Given the description of an element on the screen output the (x, y) to click on. 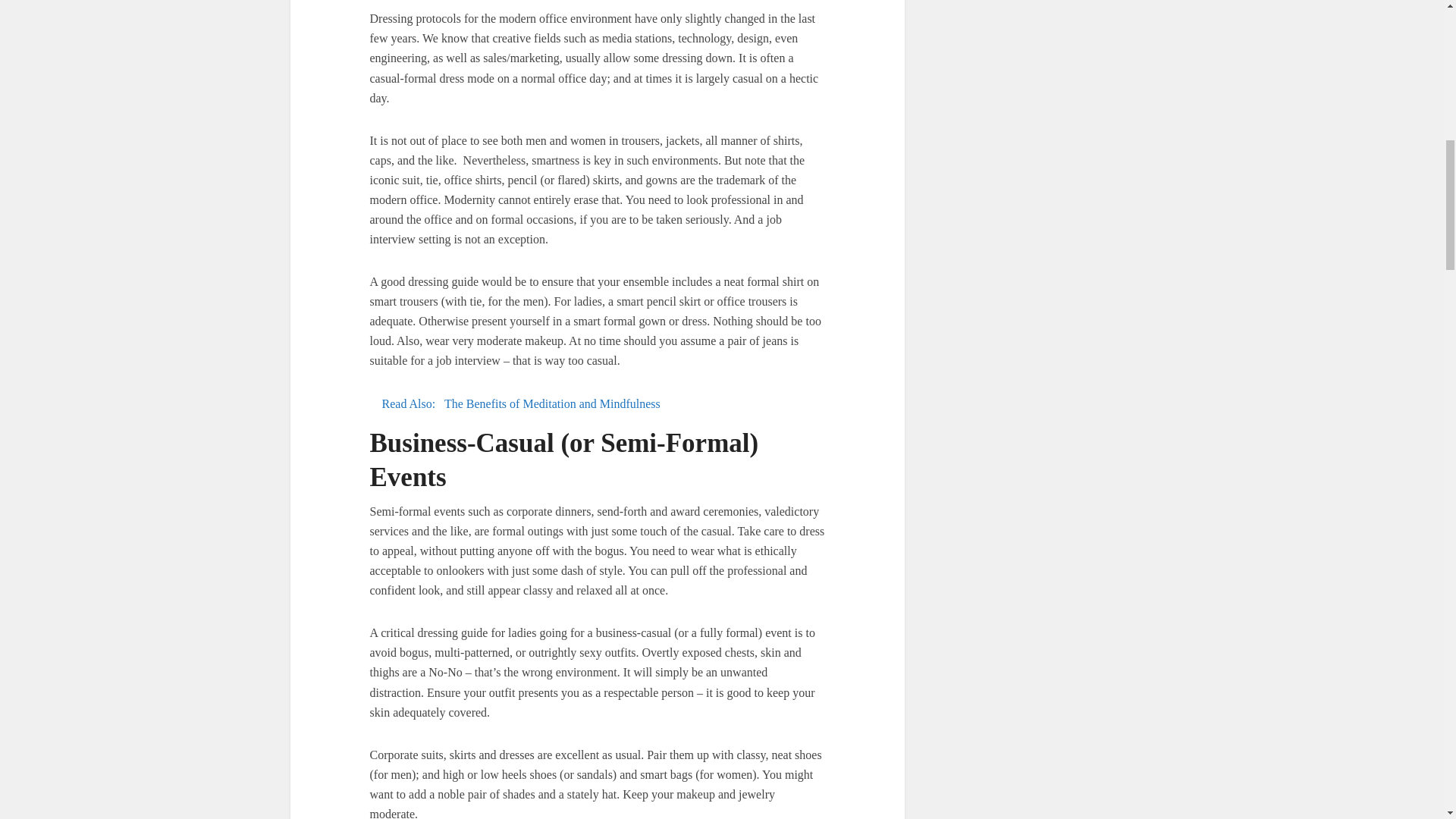
Read Also:   The Benefits of Meditation and Mindfulness (597, 403)
